Given the description of an element on the screen output the (x, y) to click on. 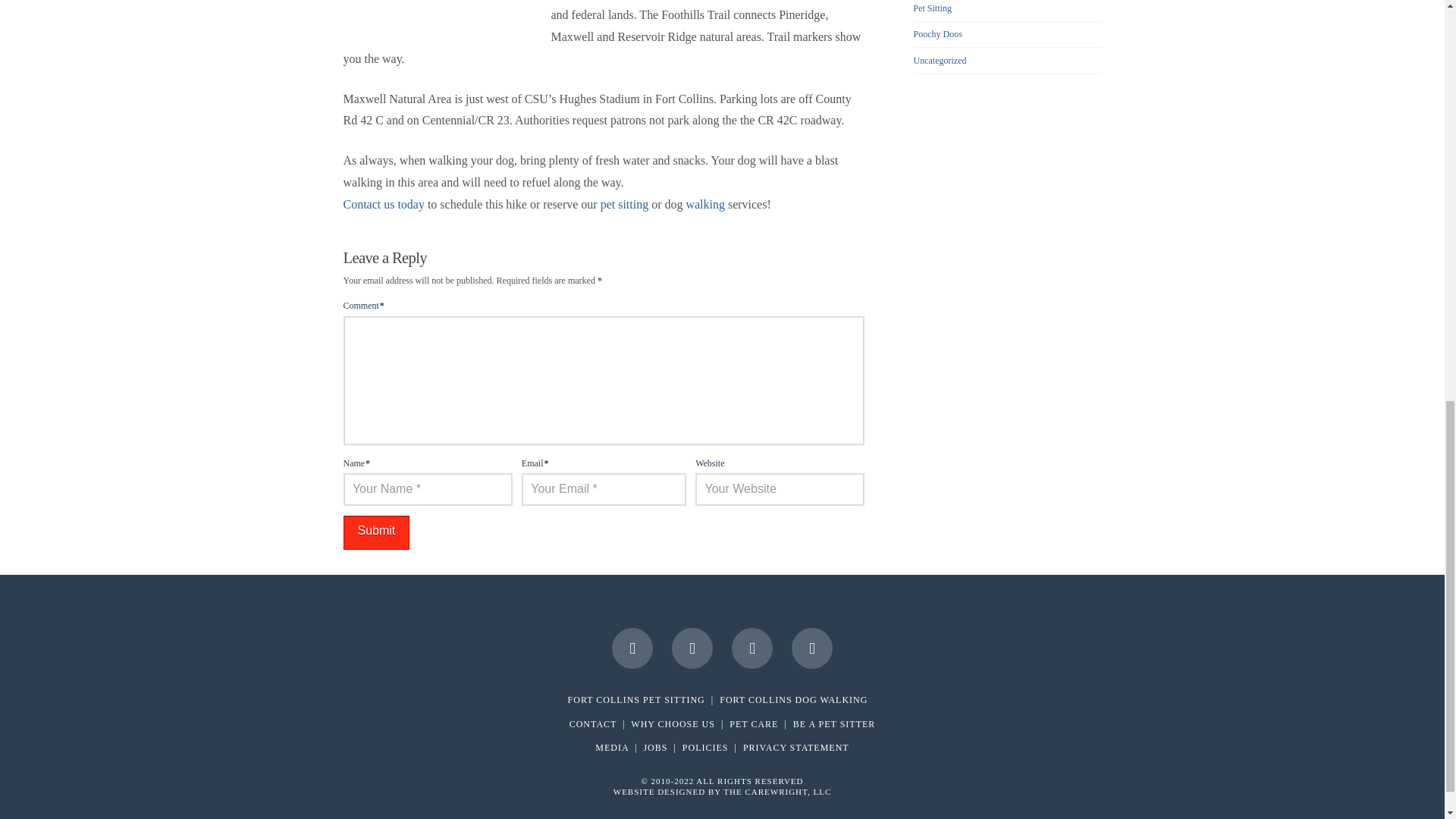
pet sitting (624, 204)
Uncategorized (940, 60)
Poochy Doos (938, 33)
FORT COLLINS PET SITTING (635, 699)
YouTube (752, 648)
fort collins pet sitting (635, 699)
Fort Collins Dog Walker Maxwell (437, 13)
Instagram (812, 648)
Pet Sitting (933, 8)
walking (705, 204)
Contact us today (382, 204)
Facebook (631, 648)
Twitter (692, 648)
Submit (375, 532)
Submit (375, 532)
